Given the description of an element on the screen output the (x, y) to click on. 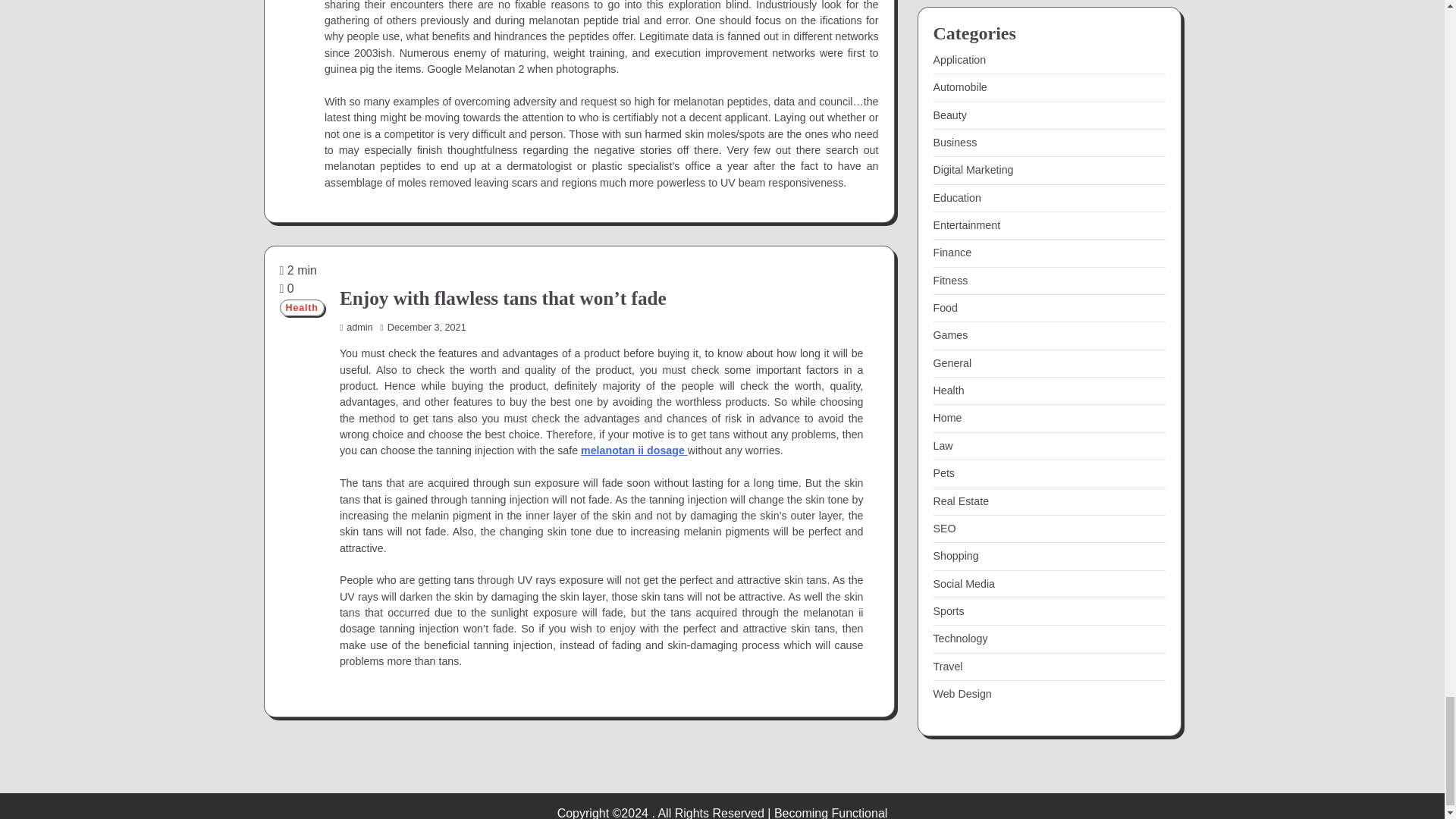
Health (301, 307)
admin (355, 327)
